Given the description of an element on the screen output the (x, y) to click on. 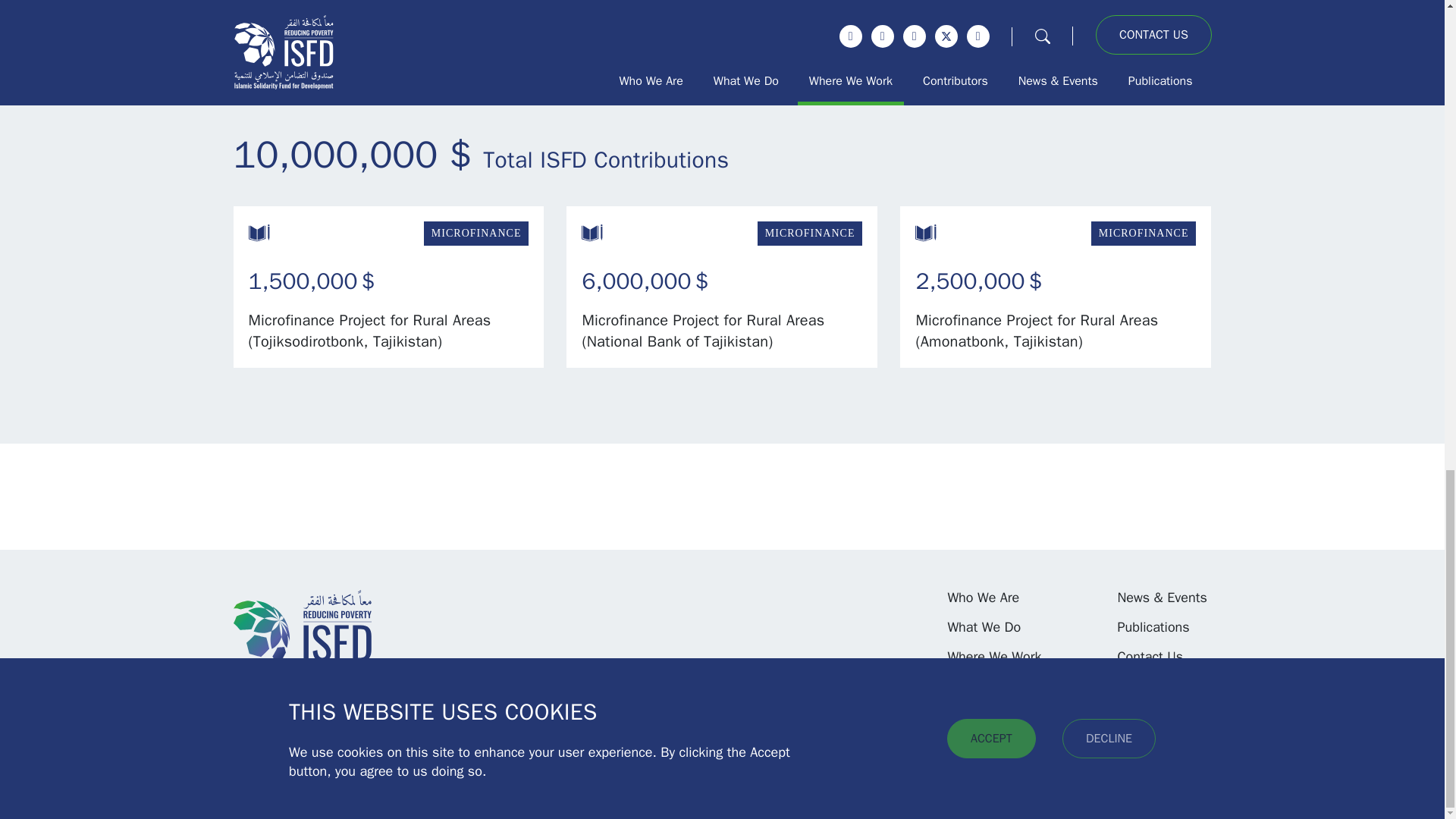
Publications (1152, 627)
What We Do (983, 627)
Contact Us (1149, 657)
Where We Work (994, 657)
Who We Are (983, 598)
Contributors (983, 686)
